Given the description of an element on the screen output the (x, y) to click on. 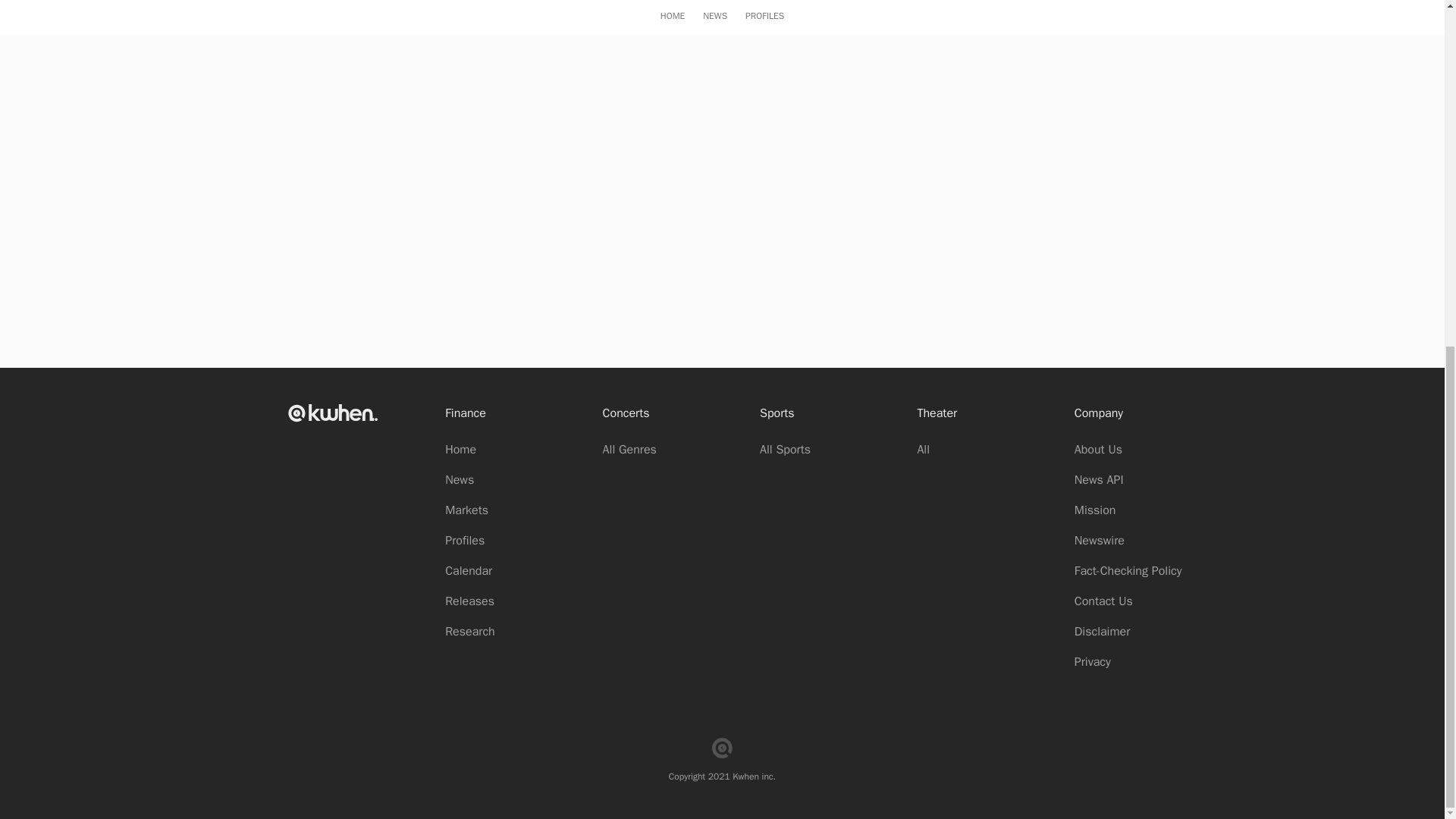
Profiles (464, 540)
About Us (1098, 449)
Mission (1095, 509)
Disclaimer (1101, 631)
Contact Us (1103, 601)
Fact-Checking Policy (1128, 570)
Home (460, 449)
All Sports (785, 449)
Research (470, 631)
Releases (470, 601)
Calendar (468, 570)
All Genres (629, 449)
All (923, 449)
Markets (466, 509)
Privacy (1092, 661)
